Given the description of an element on the screen output the (x, y) to click on. 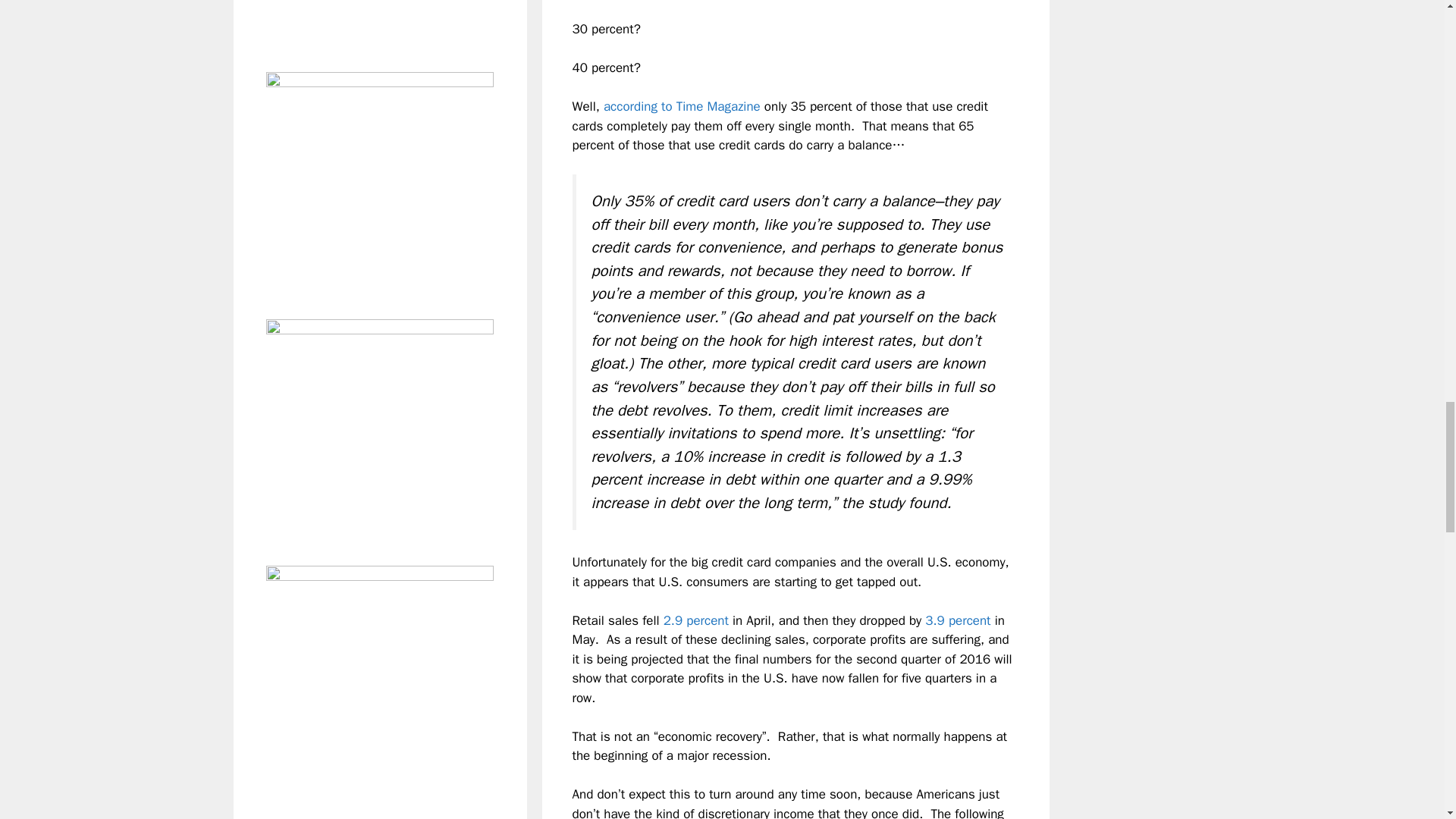
3.9 percent (957, 620)
according to Time Magazine (682, 106)
2.9 percent (696, 620)
